Given the description of an element on the screen output the (x, y) to click on. 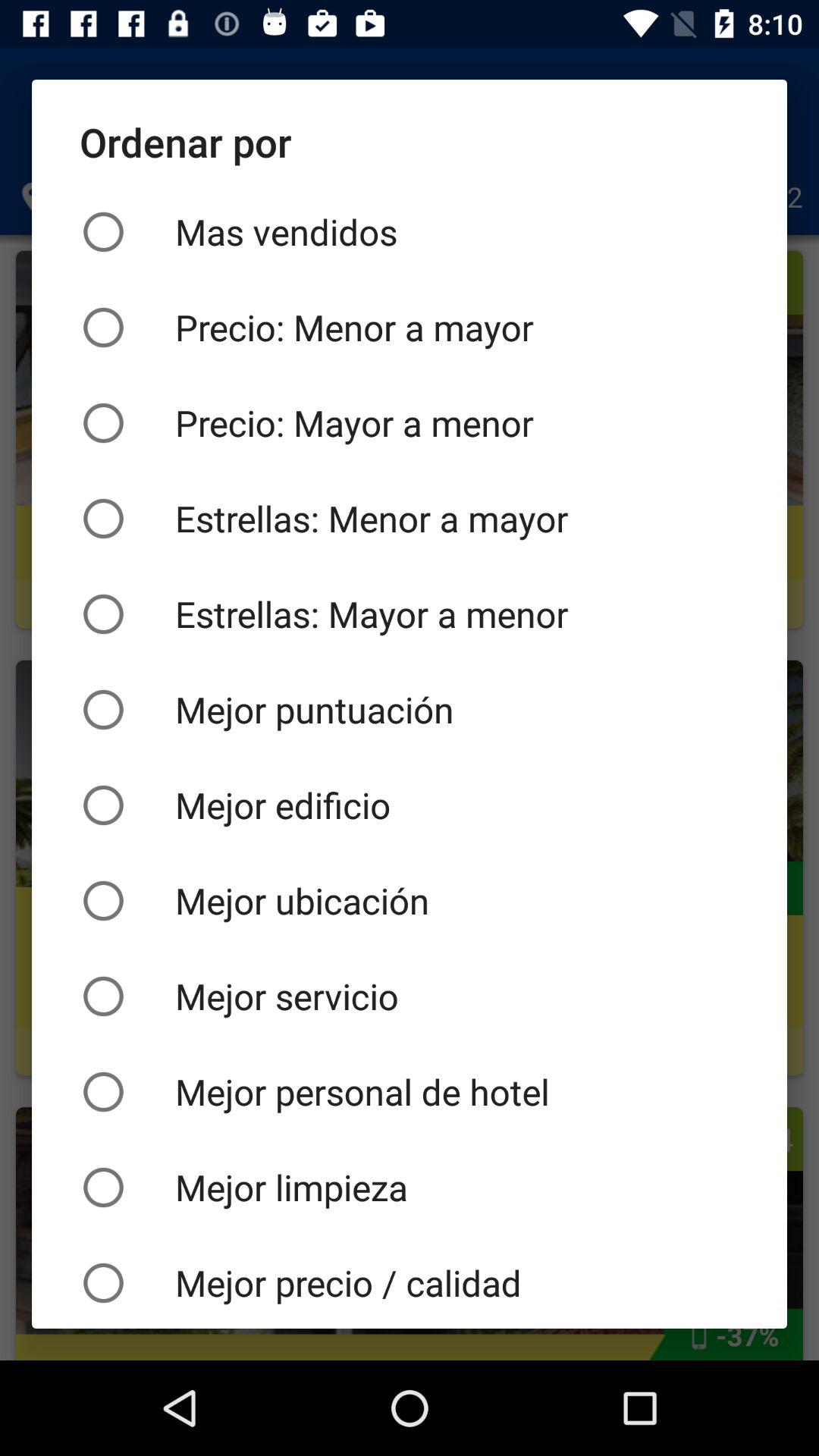
press the item above mejor limpieza (409, 1091)
